Given the description of an element on the screen output the (x, y) to click on. 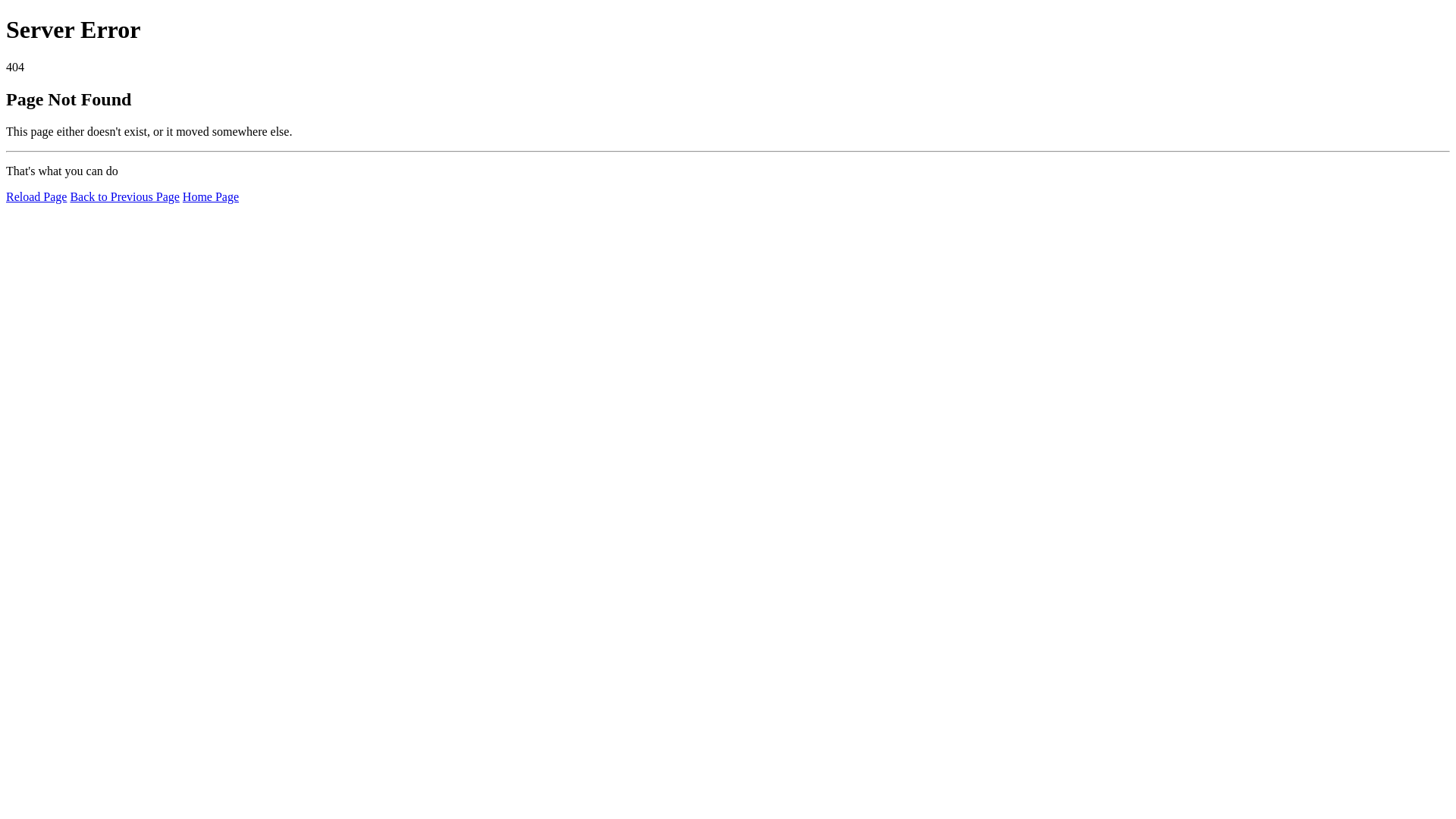
Reload Page Element type: text (36, 196)
Back to Previous Page Element type: text (123, 196)
Home Page Element type: text (210, 196)
